Given the description of an element on the screen output the (x, y) to click on. 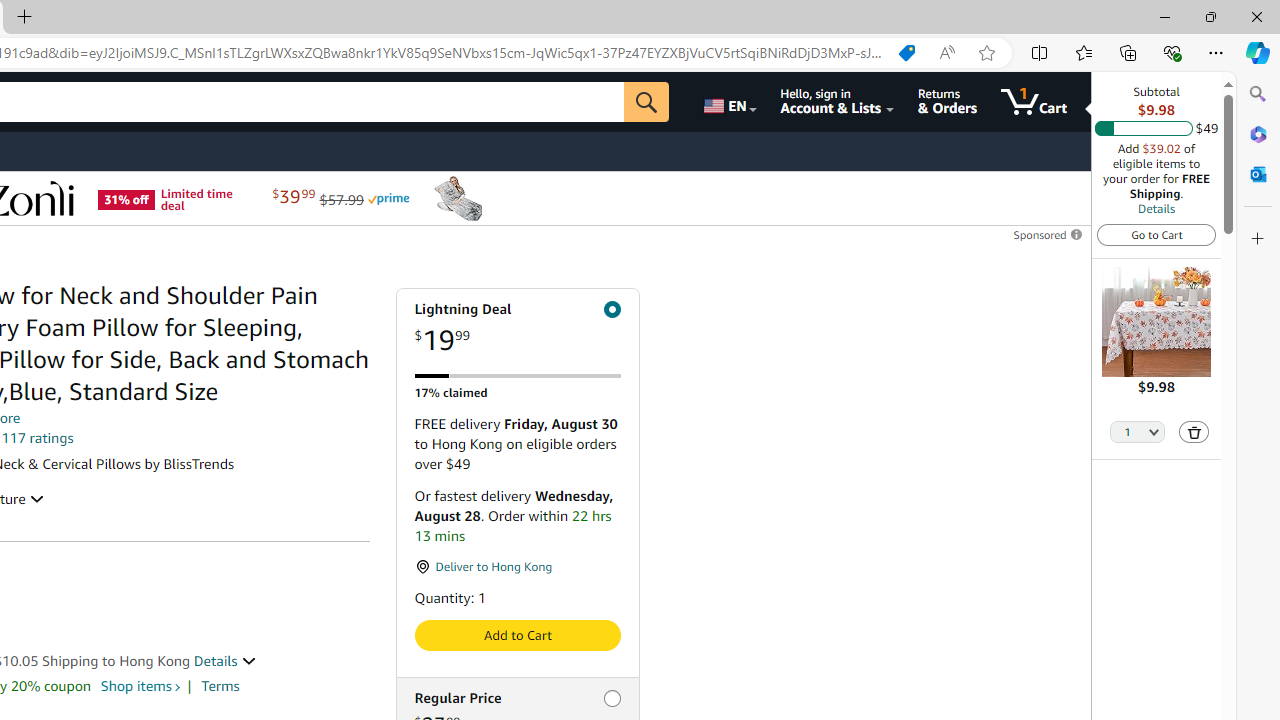
Returns & Orders (946, 101)
Prime (388, 198)
Go to Cart (1156, 234)
Go (646, 101)
